Given the description of an element on the screen output the (x, y) to click on. 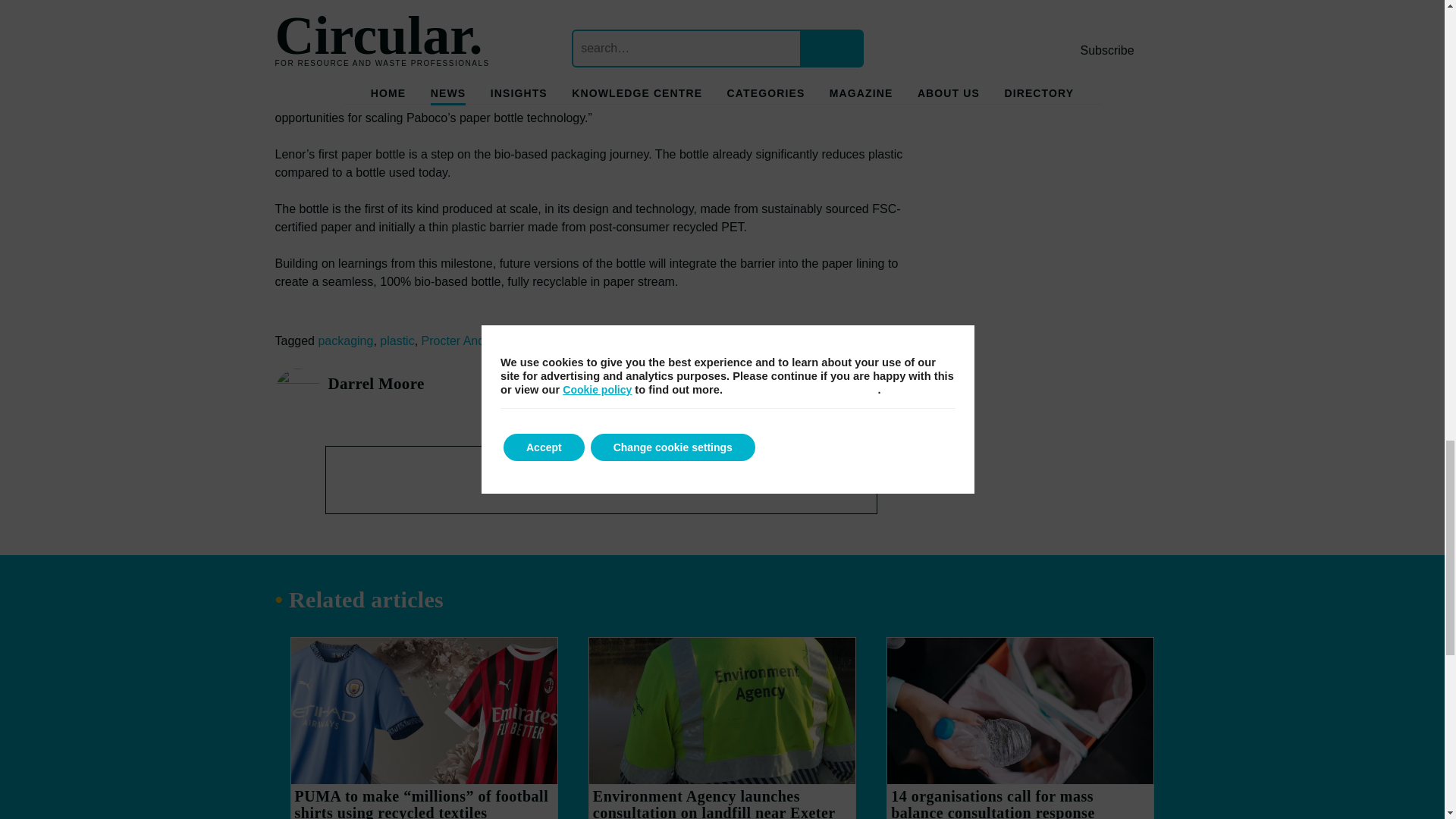
Share on LinkedIn (715, 395)
Share on Email (901, 395)
Share on Twitter (746, 395)
Share on Reddit (870, 395)
Share on Facebook (778, 395)
Share on WhatsApp (840, 395)
3rd party ad content (600, 479)
Share on Pinterest (808, 395)
